Given the description of an element on the screen output the (x, y) to click on. 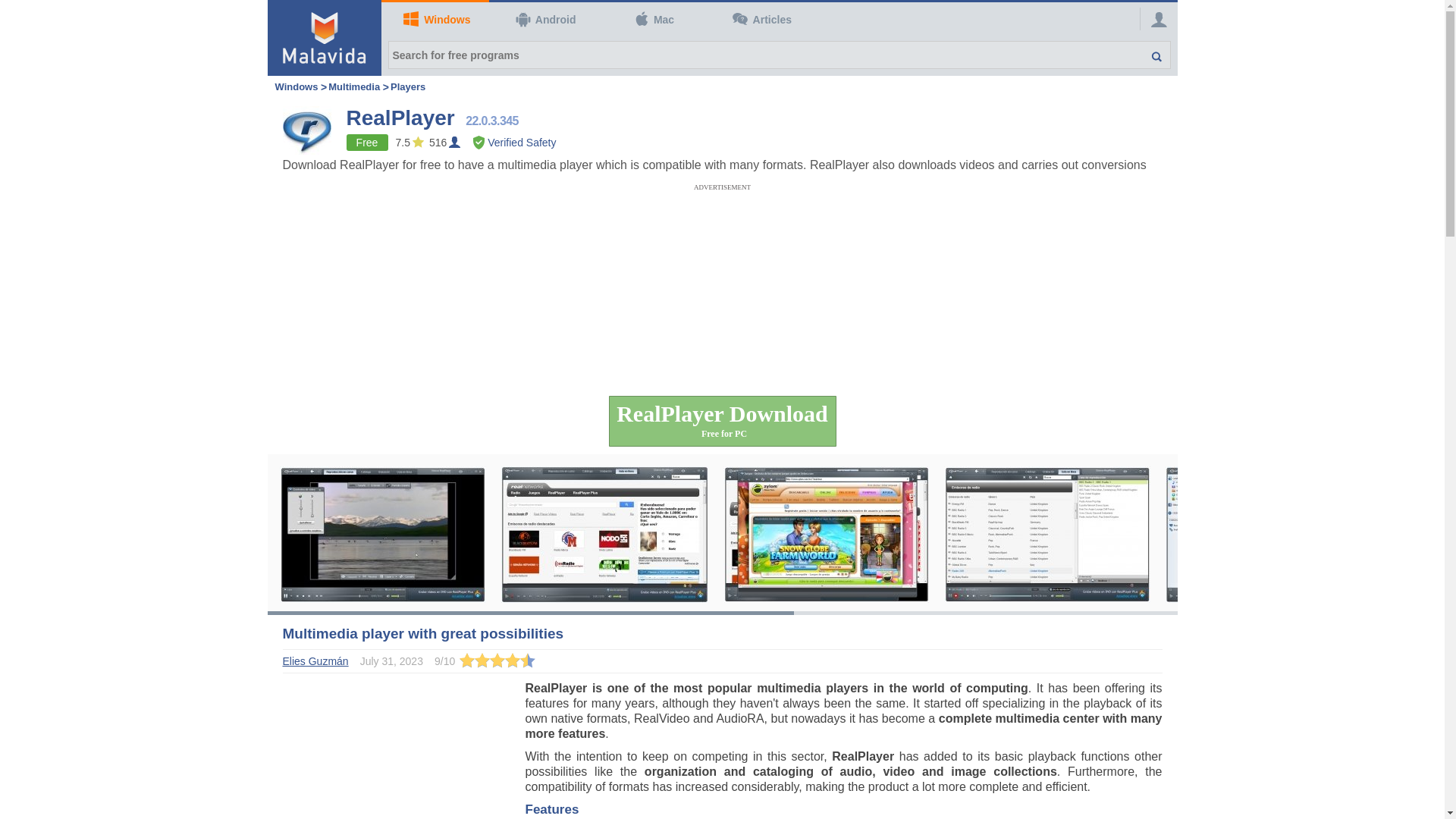
Download programs free for Windows (434, 19)
Multimedia (354, 86)
Malavida Safety First (514, 142)
Articles (760, 19)
Windows (296, 86)
Android (543, 19)
RealPlayer Download (721, 420)
RealPlayer image 1  (381, 532)
search (1148, 54)
Mac (651, 19)
